Given the description of an element on the screen output the (x, y) to click on. 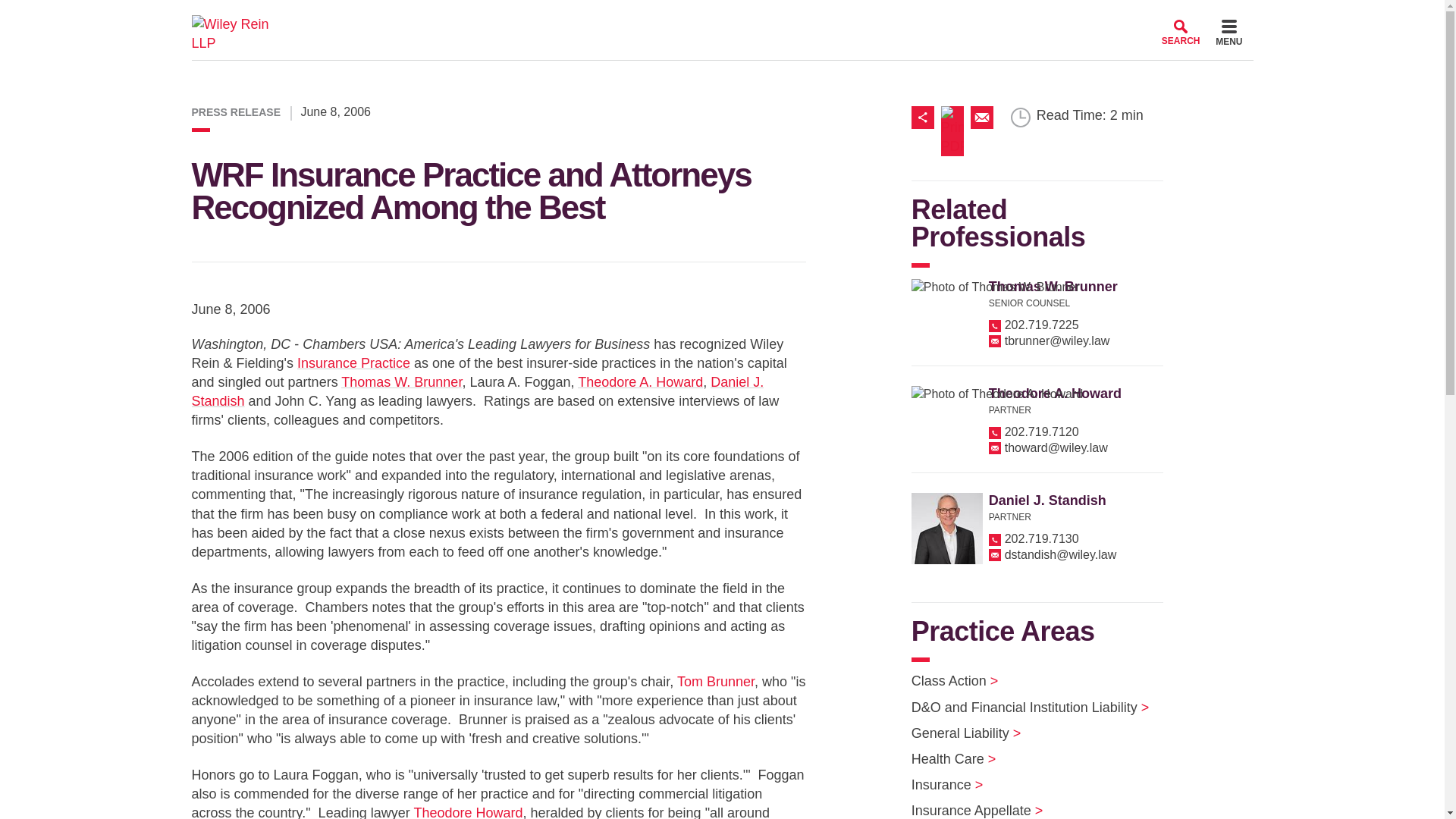
Menu (1228, 34)
Menu (676, 17)
SEARCH (1180, 32)
MENU (1228, 34)
Cookie Settings (663, 17)
Main Menu (676, 17)
Email (981, 117)
Share (925, 117)
Main Content (669, 17)
